Given the description of an element on the screen output the (x, y) to click on. 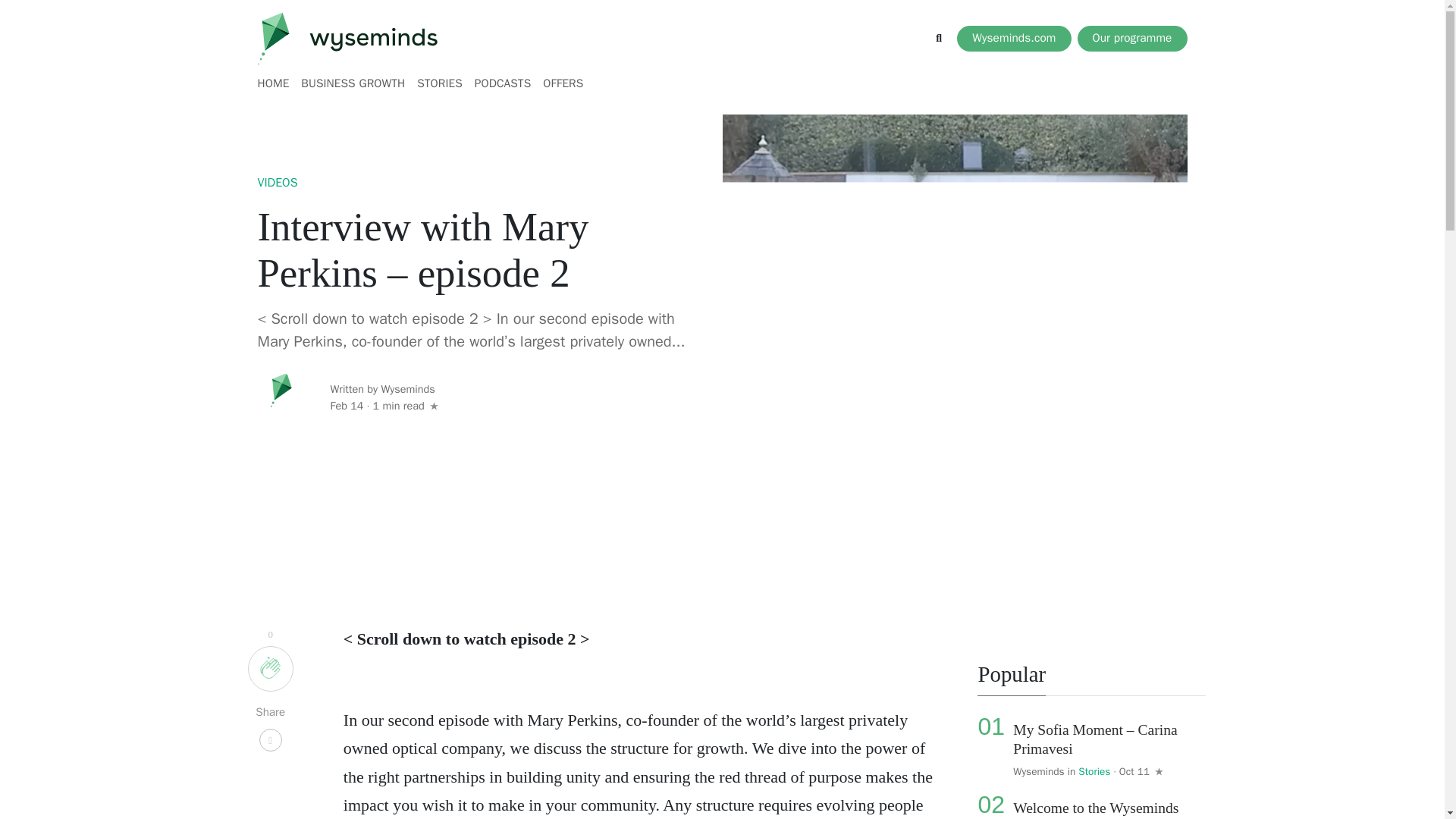
BUSINESS GROWTH (352, 83)
PODCASTS (502, 83)
Wyseminds.com (1013, 37)
Stories (1093, 771)
HOME (276, 83)
Wyseminds (1038, 771)
VIDEOS (277, 184)
Written by Wyseminds (384, 389)
Our programme (1131, 37)
